Given the description of an element on the screen output the (x, y) to click on. 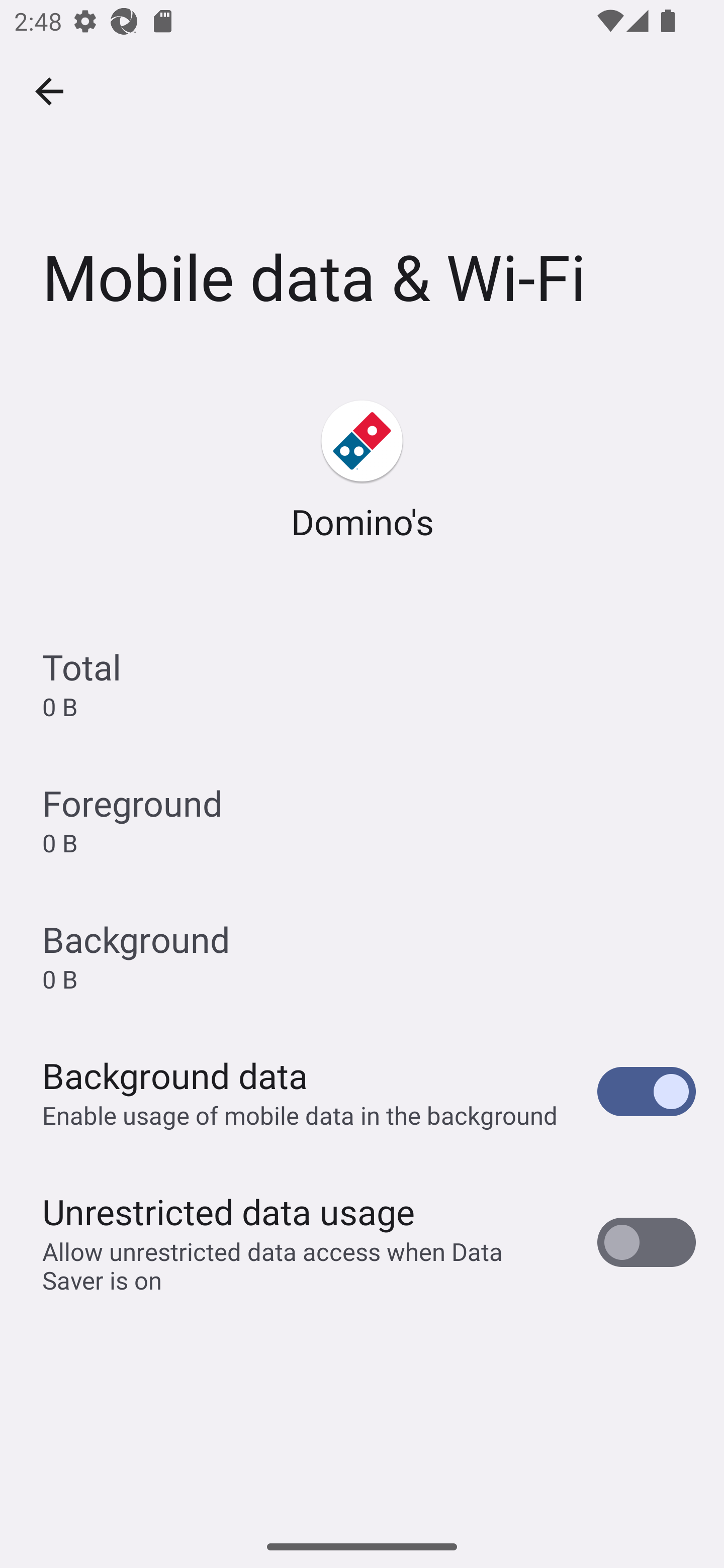
Navigate up (49, 91)
Domino's (361, 471)
